Given the description of an element on the screen output the (x, y) to click on. 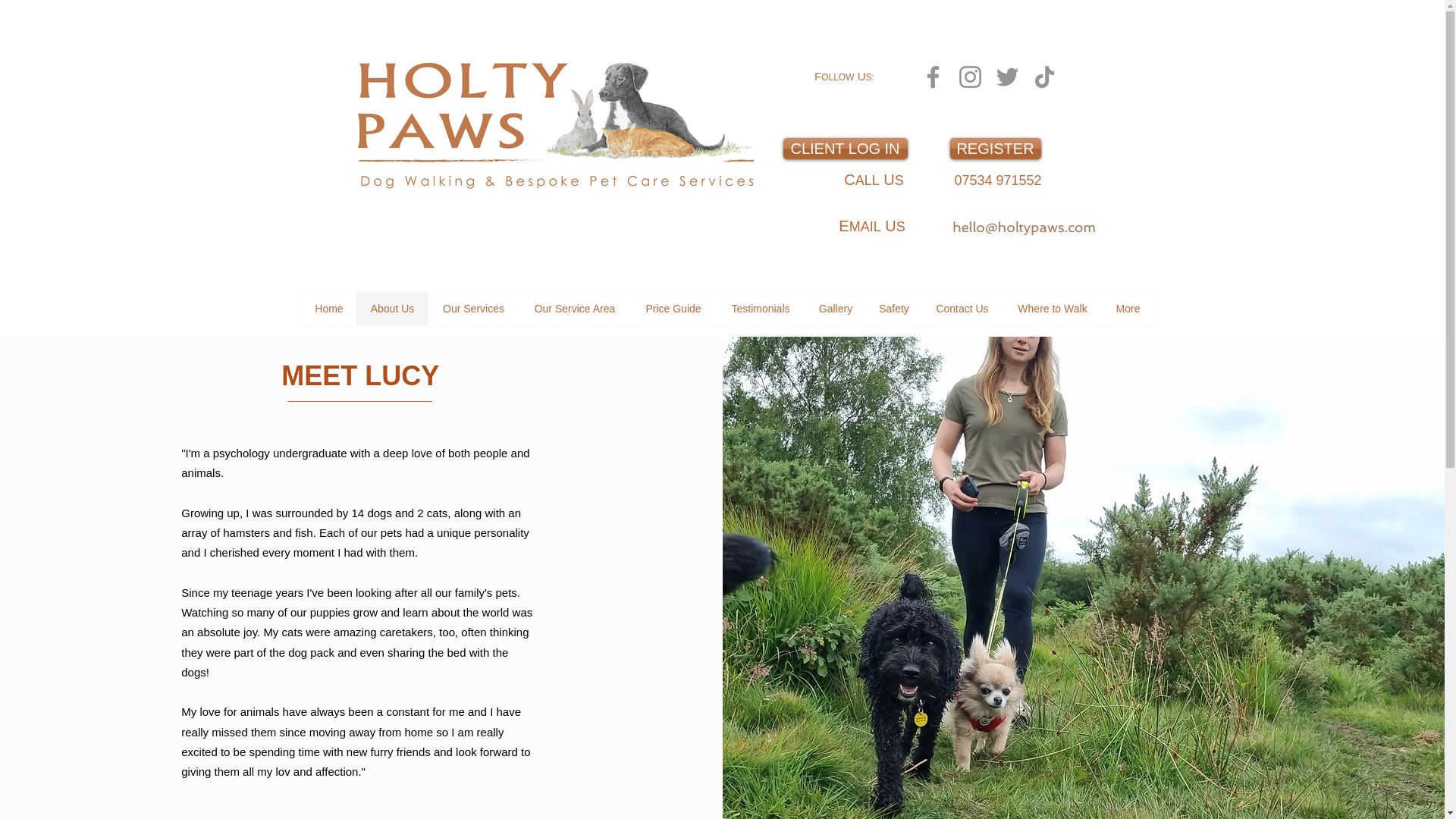
CLIENT LOG IN (845, 148)
Where to Walk (1052, 308)
Safety (893, 308)
REGISTER (995, 148)
Price Guide (673, 308)
Our Service Area (574, 308)
About Us (392, 308)
Our Services (473, 308)
Testimonials (760, 308)
Contact Us (962, 308)
